Given the description of an element on the screen output the (x, y) to click on. 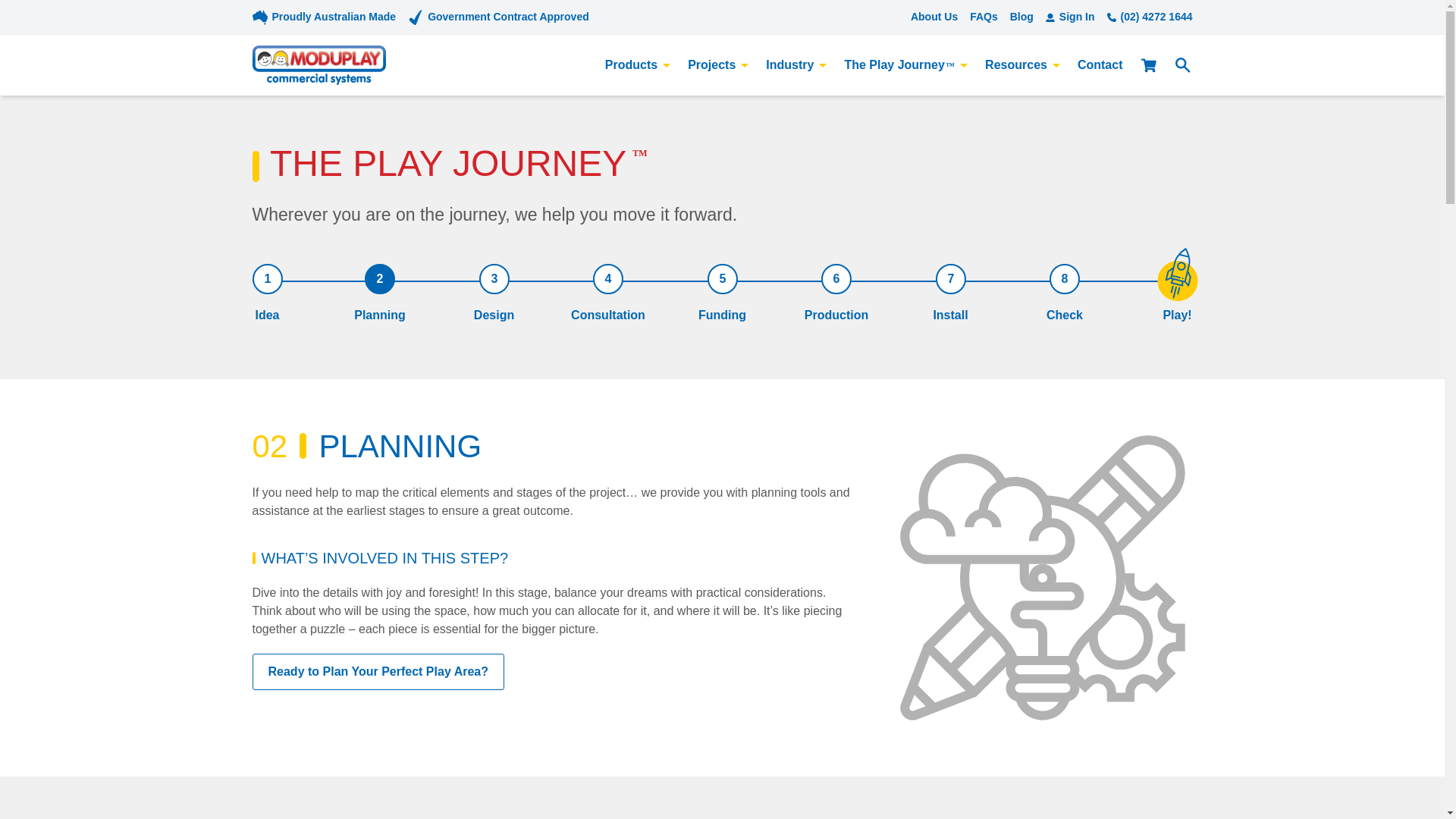
About Us (934, 17)
Government Contract Approved (508, 16)
FAQs (983, 17)
Moduplay (318, 65)
Blog (1021, 17)
Proudly Australian Made (333, 16)
Sign In (1069, 17)
